Given the description of an element on the screen output the (x, y) to click on. 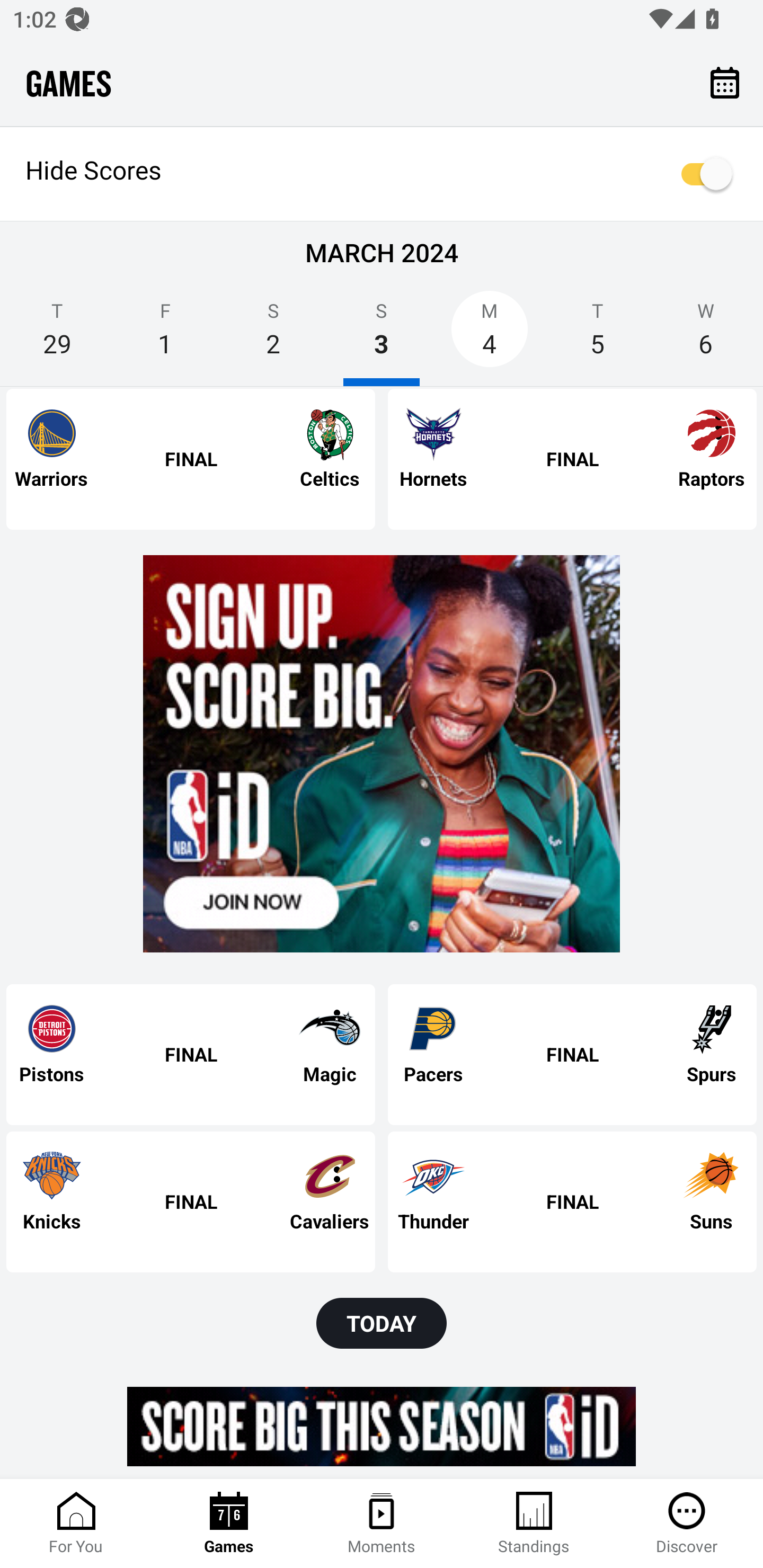
Calendar (724, 81)
Hide Scores (381, 174)
T 29 (57, 334)
F 1 (165, 334)
S 2 (273, 334)
S 3 (381, 334)
M 4 (489, 334)
T 5 (597, 334)
W 6 (705, 334)
Post Game - Pistons at Magic Pistons FINAL Magic (190, 1054)
Post Game - Pacers at Spurs Pacers FINAL Spurs (571, 1054)
Post Game - Thunder at Suns Thunder FINAL Suns (571, 1201)
TODAY (381, 1323)
For You (76, 1523)
Moments (381, 1523)
Standings (533, 1523)
Discover (686, 1523)
